Given the description of an element on the screen output the (x, y) to click on. 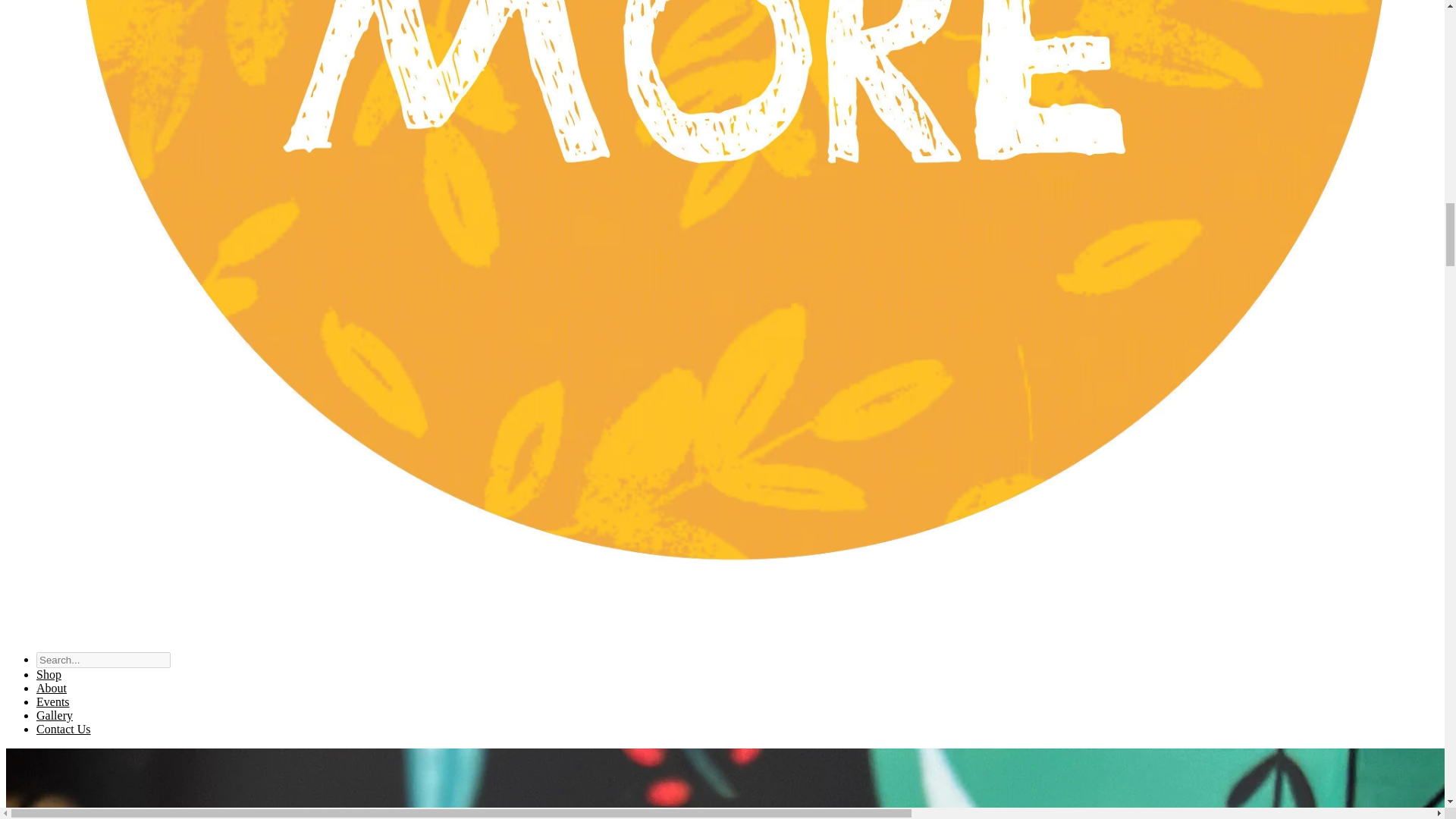
Events (52, 701)
Contact Us (63, 728)
About (51, 687)
Shop (48, 674)
Gallery (54, 715)
